Given the description of an element on the screen output the (x, y) to click on. 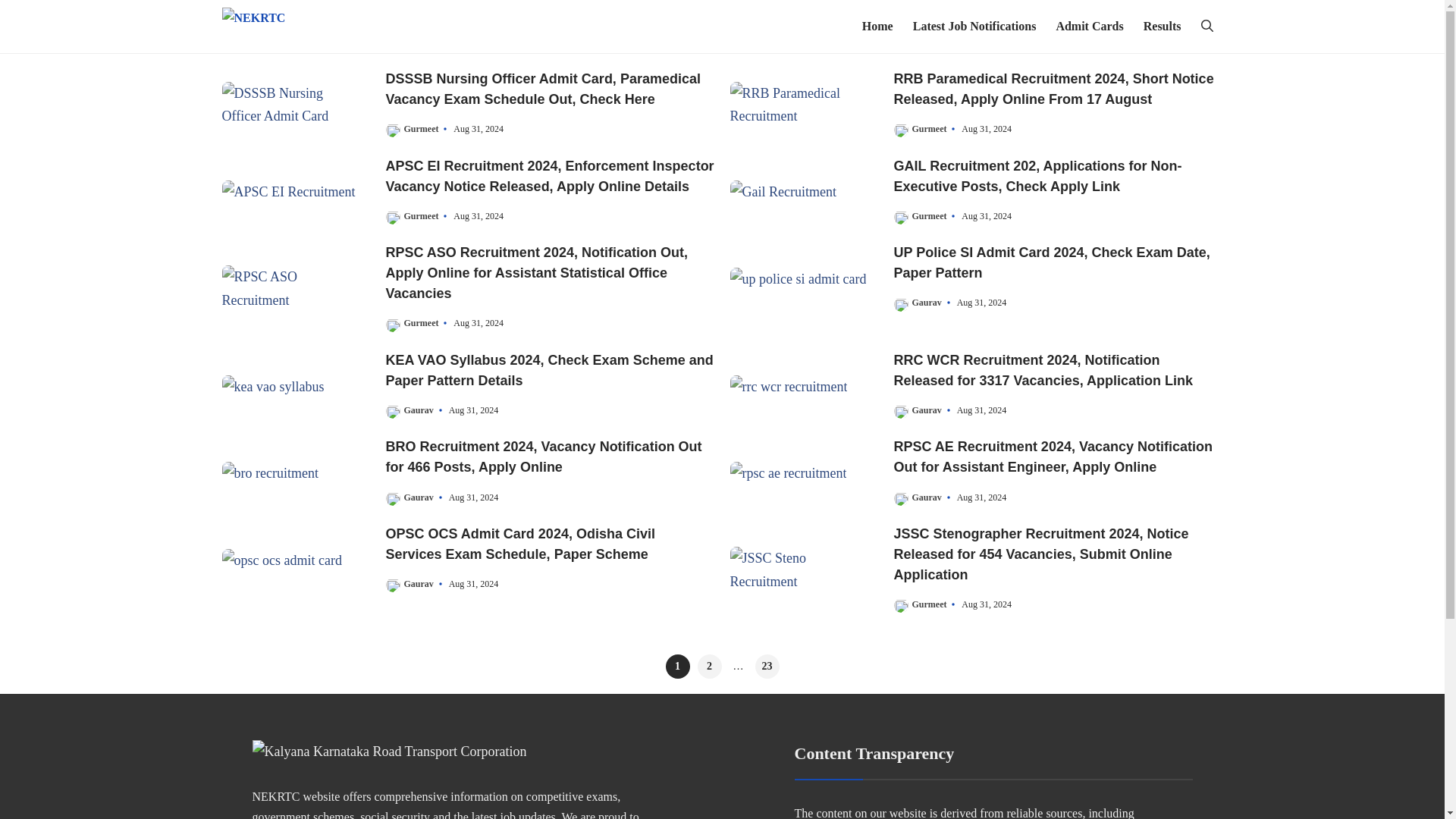
Published by (420, 128)
Published by (417, 409)
Published by (925, 409)
Last Updated (978, 128)
Last Updated (470, 323)
Published by (928, 215)
Gurmeet (420, 128)
Last Updated (974, 409)
